Given the description of an element on the screen output the (x, y) to click on. 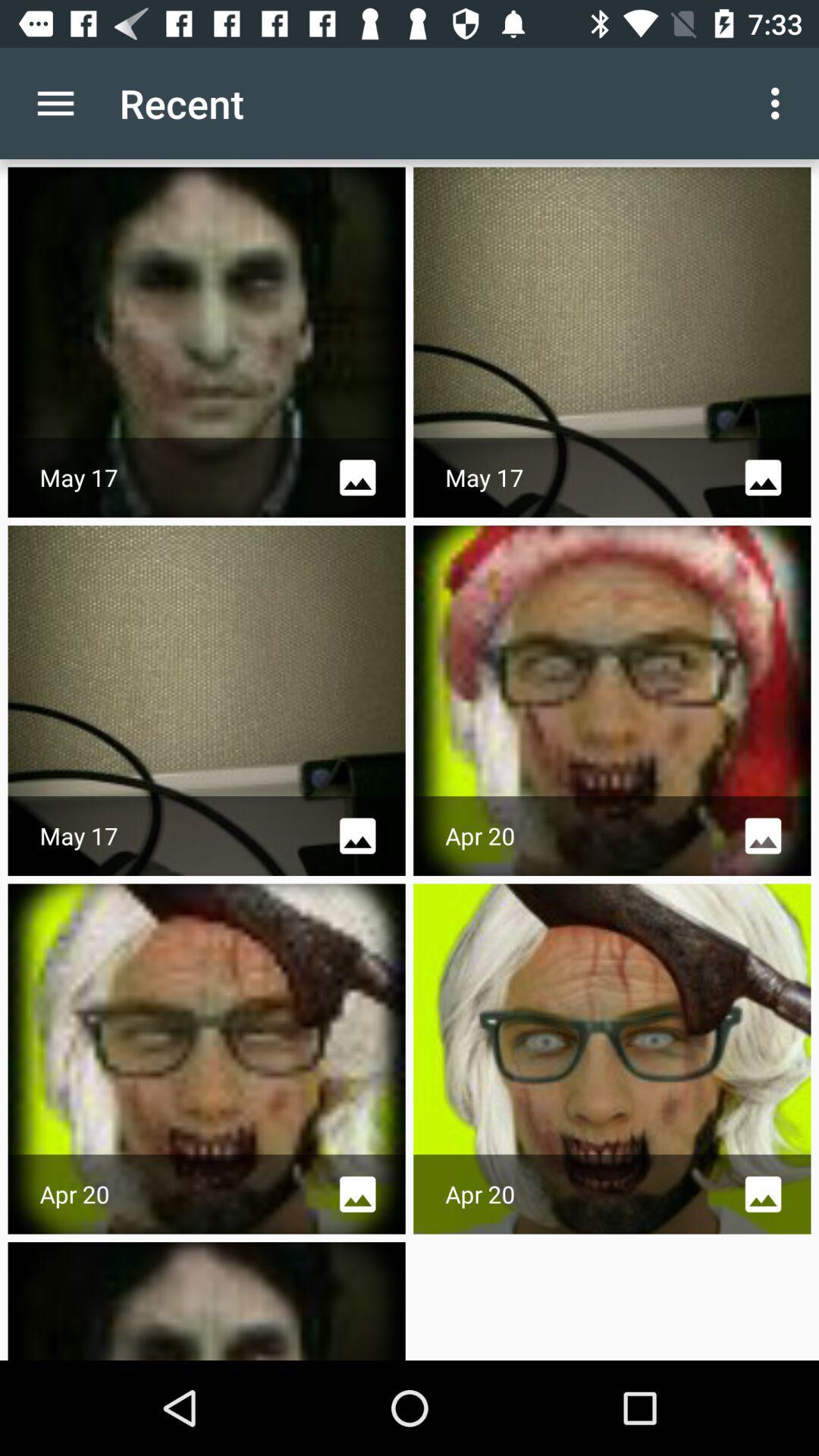
turn on the app next to the recent item (779, 103)
